Given the description of an element on the screen output the (x, y) to click on. 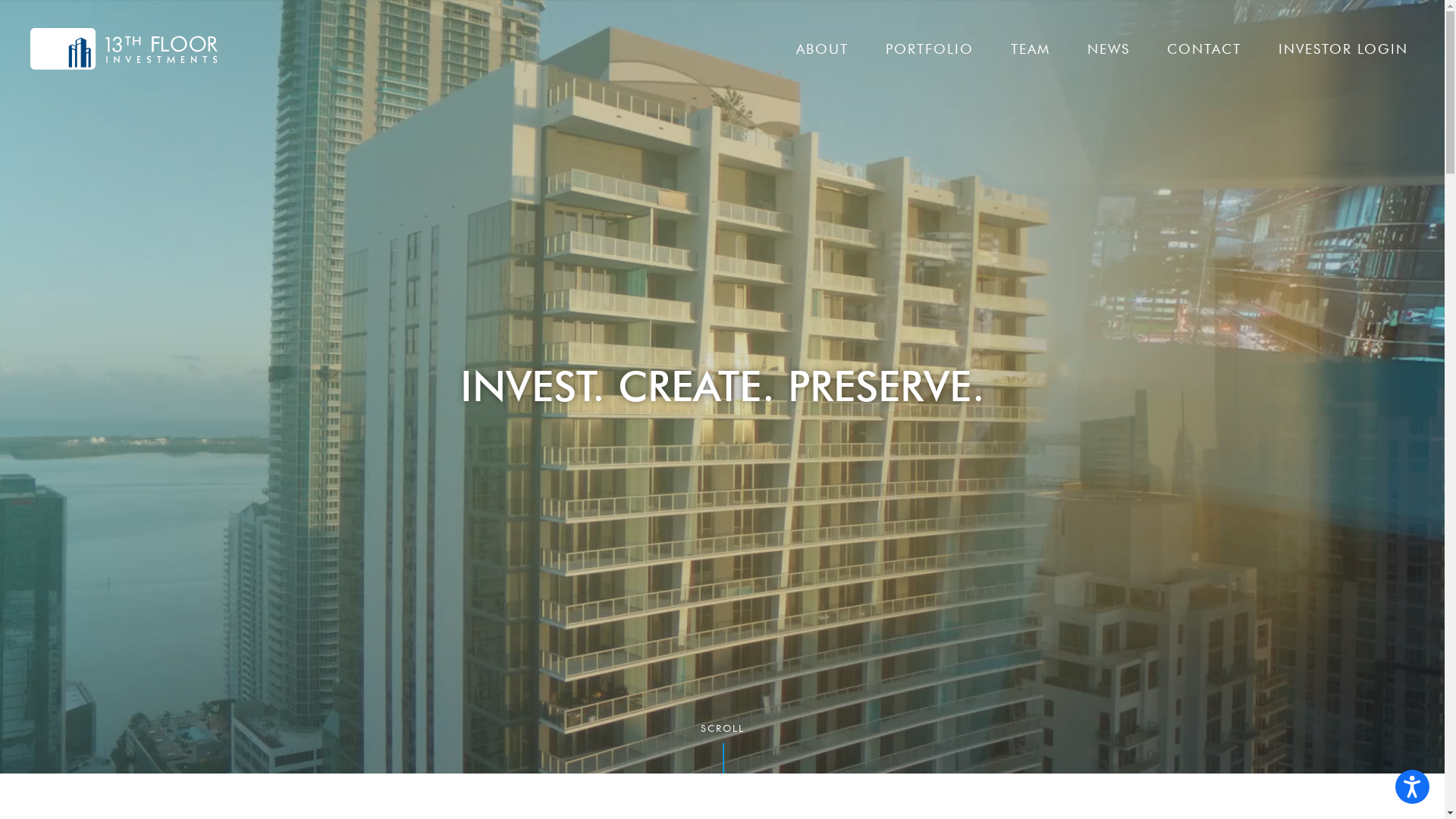
PORTFOLIO Element type: text (929, 48)
TEAM Element type: text (1030, 48)
INVESTOR LOGIN Element type: text (1343, 48)
CONTACT Element type: text (1204, 48)
NEWS Element type: text (1108, 48)
ABOUT Element type: text (822, 48)
